Given the description of an element on the screen output the (x, y) to click on. 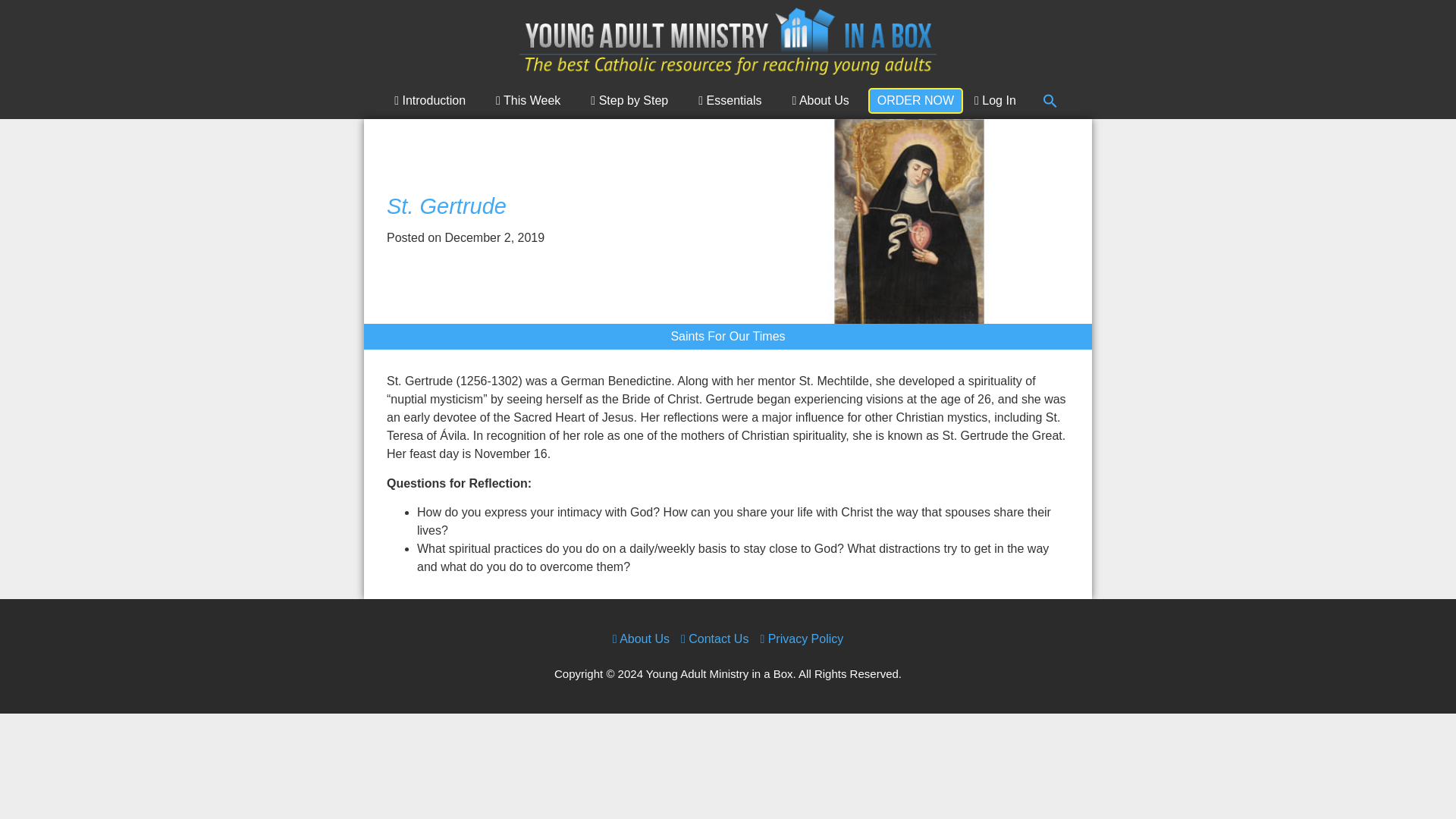
 About Us (823, 100)
ORDER NOW (914, 100)
 Step by Step (633, 100)
 Introduction (433, 100)
 Log In (994, 100)
 Essentials (733, 100)
 This Week (531, 100)
